Given the description of an element on the screen output the (x, y) to click on. 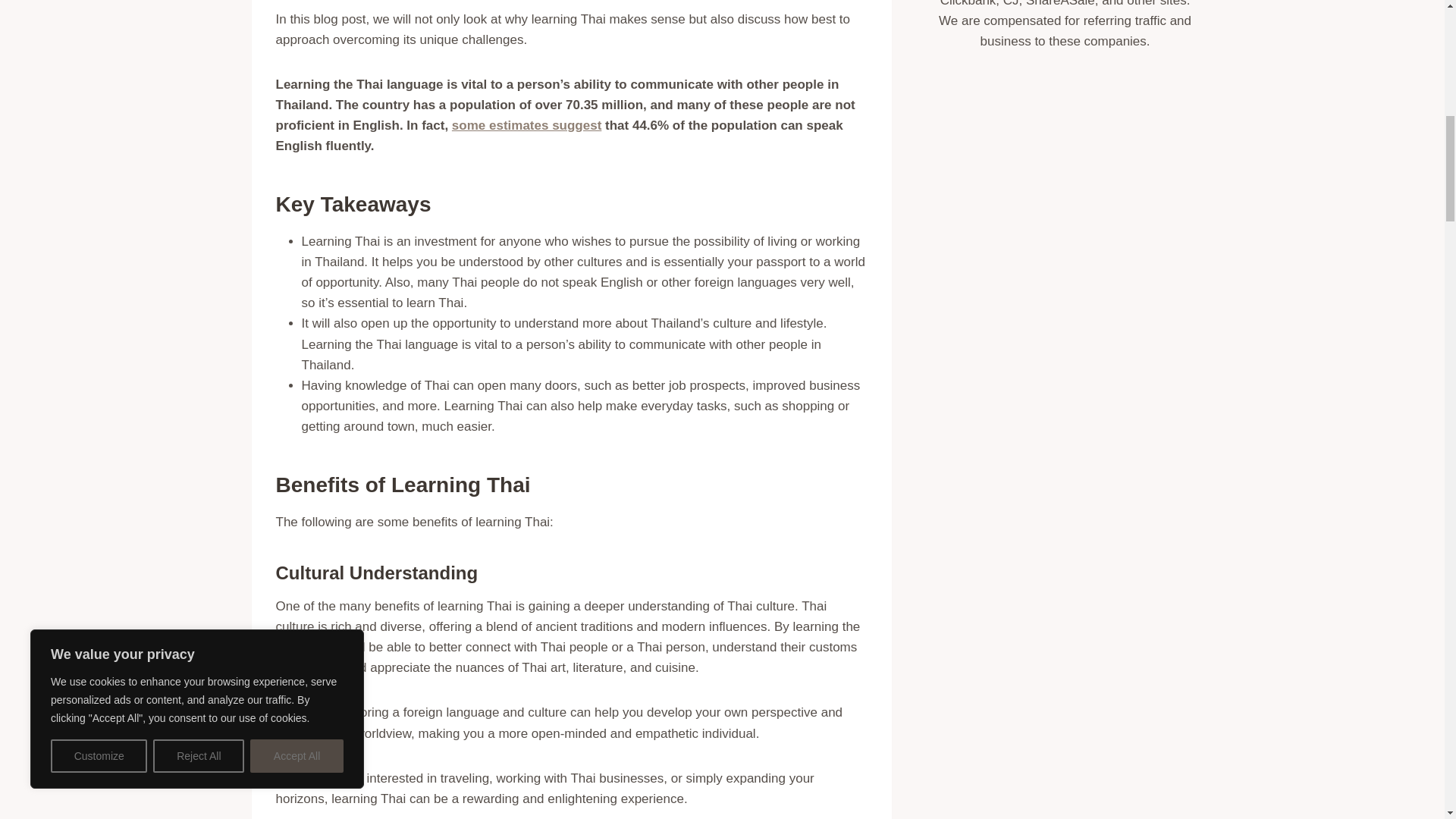
some estimates suggest (526, 124)
